Given the description of an element on the screen output the (x, y) to click on. 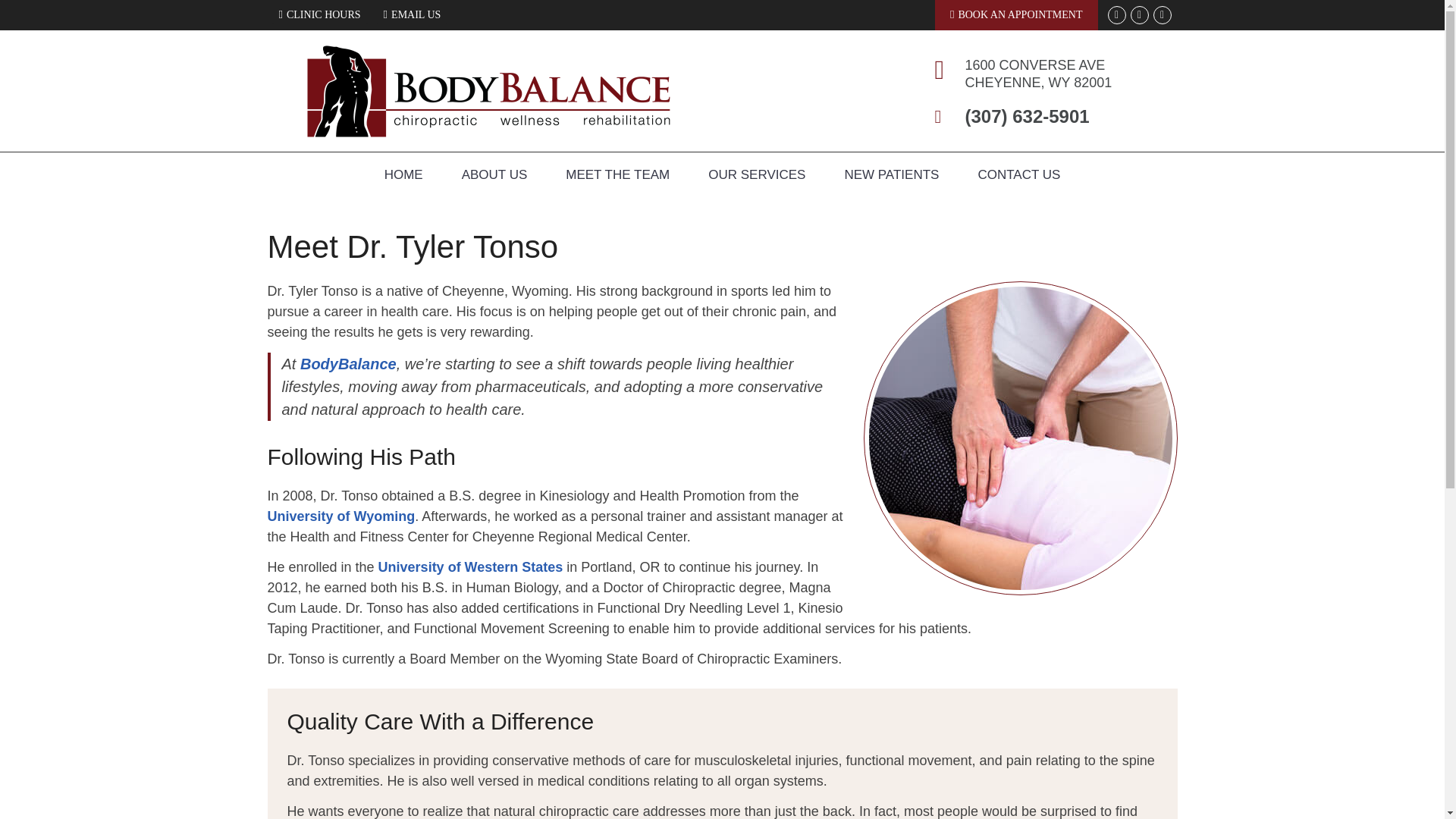
NEW PATIENTS (891, 175)
CLINIC HOURS (319, 14)
BodyBalance (488, 132)
OUR SERVICES (756, 175)
Facebook Social Button (1138, 14)
MEET THE TEAM (617, 175)
University of Wyoming (340, 516)
BodyBalance (347, 363)
Yelp Social Button (1161, 14)
HOME (403, 175)
Contact (411, 14)
University of Western States (470, 566)
CONTACT US (1018, 175)
Welcome to BodyBalance (488, 132)
EMAIL US (411, 14)
